Given the description of an element on the screen output the (x, y) to click on. 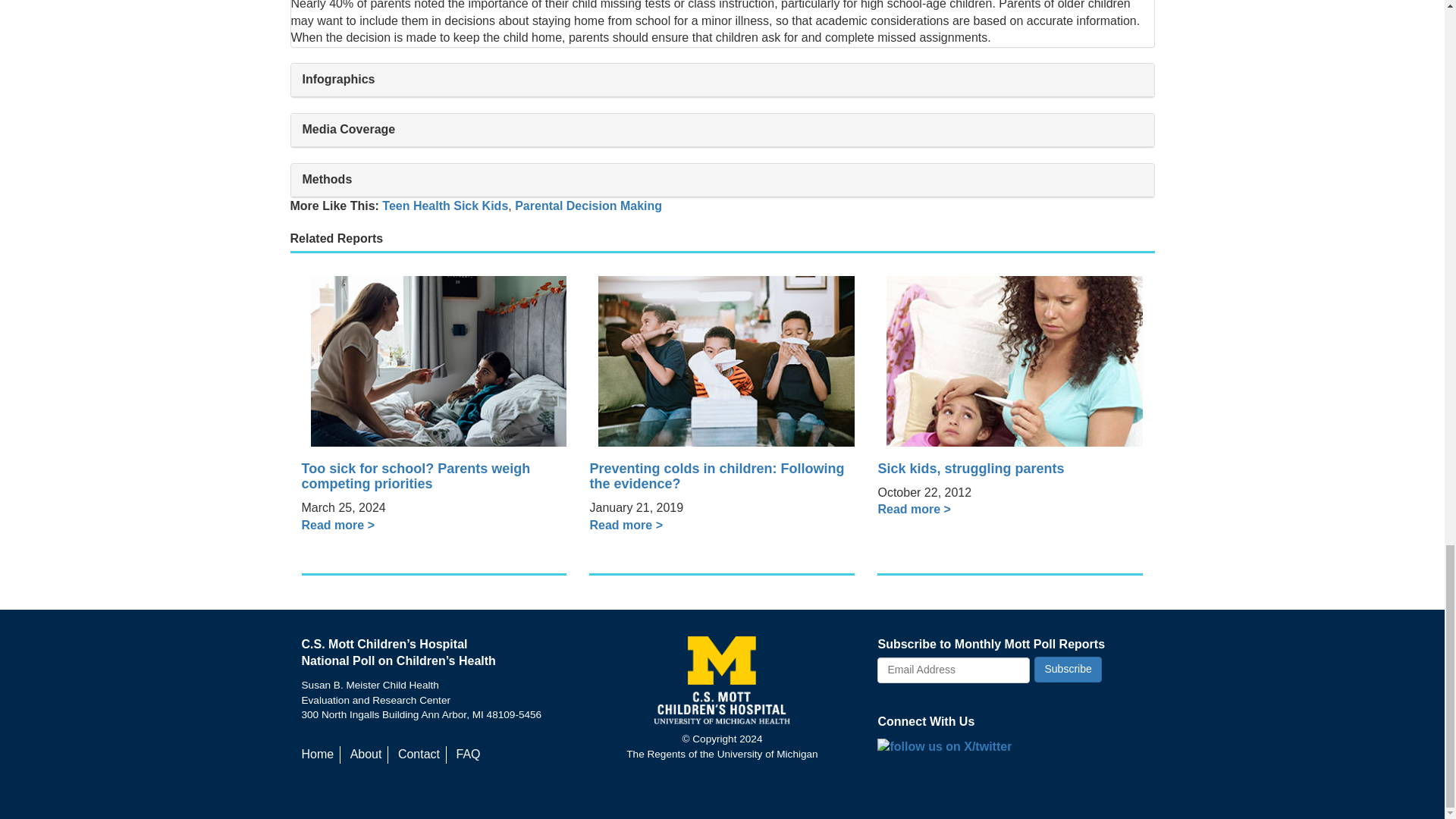
Methods (722, 179)
Subscribe (1066, 669)
Infographics (722, 79)
Teen Health (415, 205)
Media Coverage (722, 129)
